Given the description of an element on the screen output the (x, y) to click on. 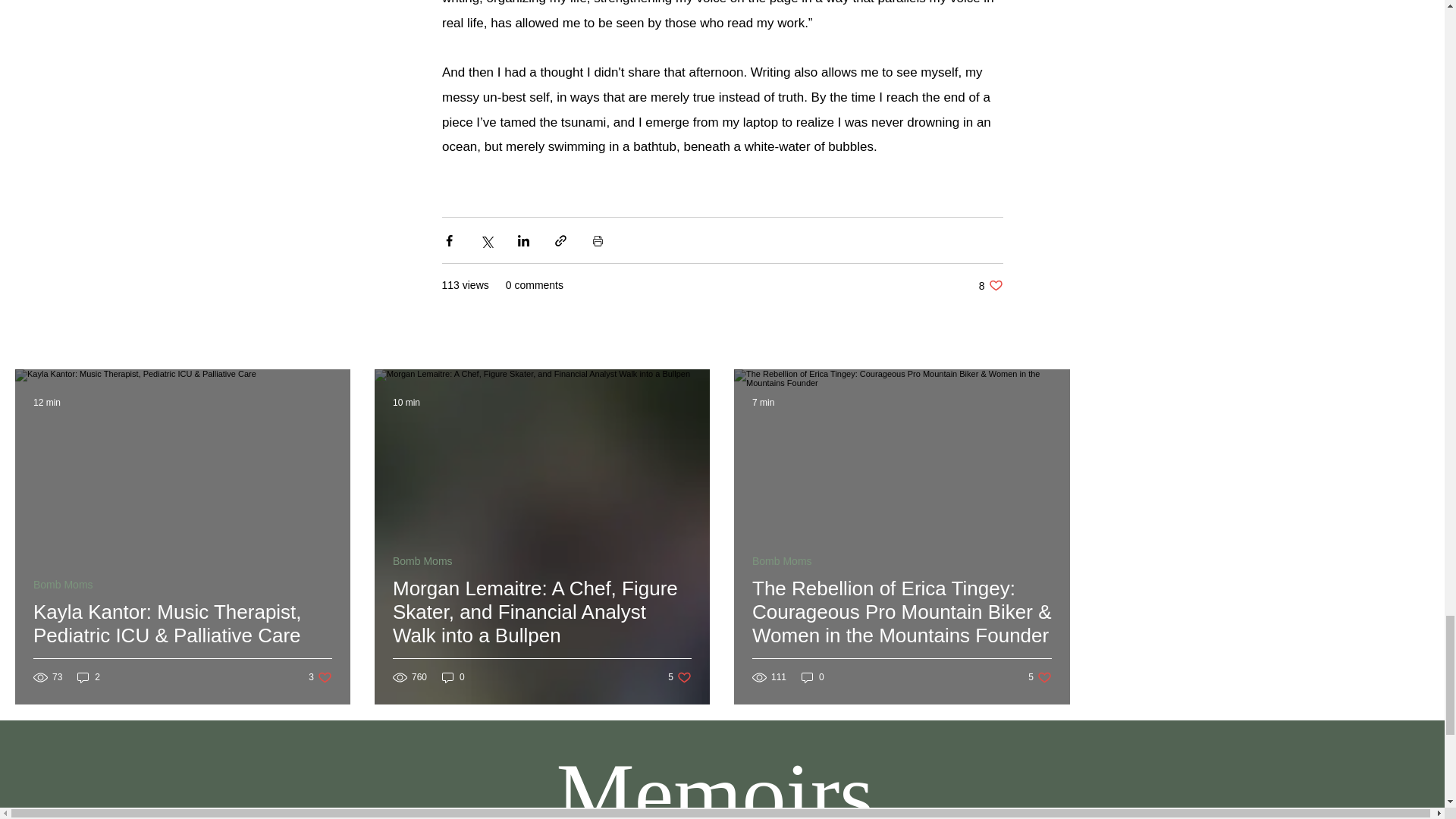
Bomb Moms (782, 561)
10 min (406, 402)
of a (627, 817)
Bomb Moms (990, 285)
0 (422, 561)
Mom (812, 677)
Bomb Moms (679, 677)
0 (761, 806)
12 min (63, 584)
Memoirs  (1039, 677)
7 min (453, 677)
